Given the description of an element on the screen output the (x, y) to click on. 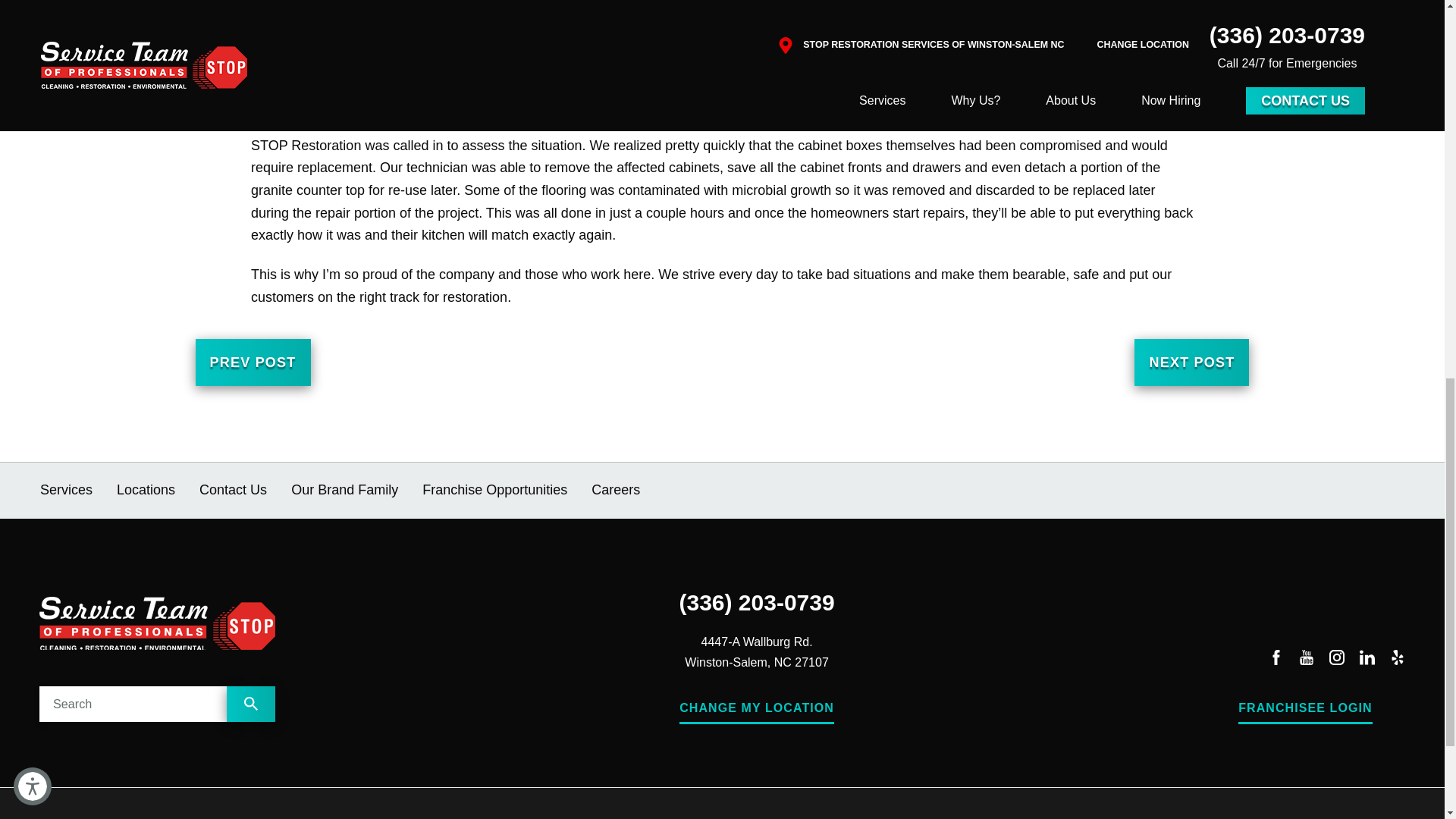
Instagram (1336, 659)
LinkedIn (1366, 659)
Yelp (1397, 659)
STOP Restoration (157, 623)
Facebook (1276, 659)
YouTube (1306, 659)
